Given the description of an element on the screen output the (x, y) to click on. 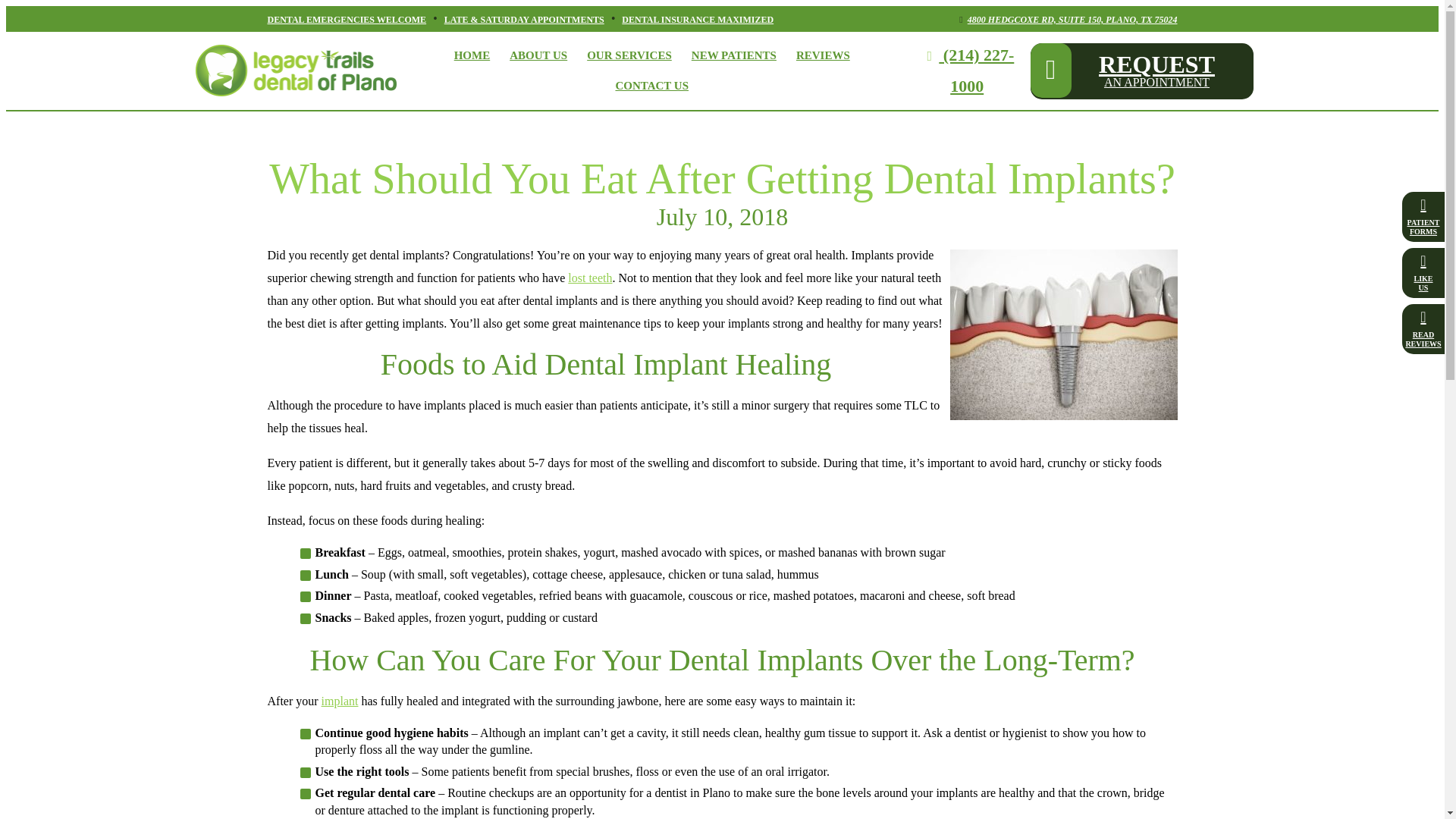
ABOUT US (537, 55)
DENTAL INSURANCE MAXIMIZED (697, 19)
OUR SERVICES (1140, 70)
DENTAL EMERGENCIES WELCOME (628, 55)
4800 HEDGCOXE RD, SUITE 150, PLANO, TX 75024 (346, 19)
HOME (1065, 19)
